Given the description of an element on the screen output the (x, y) to click on. 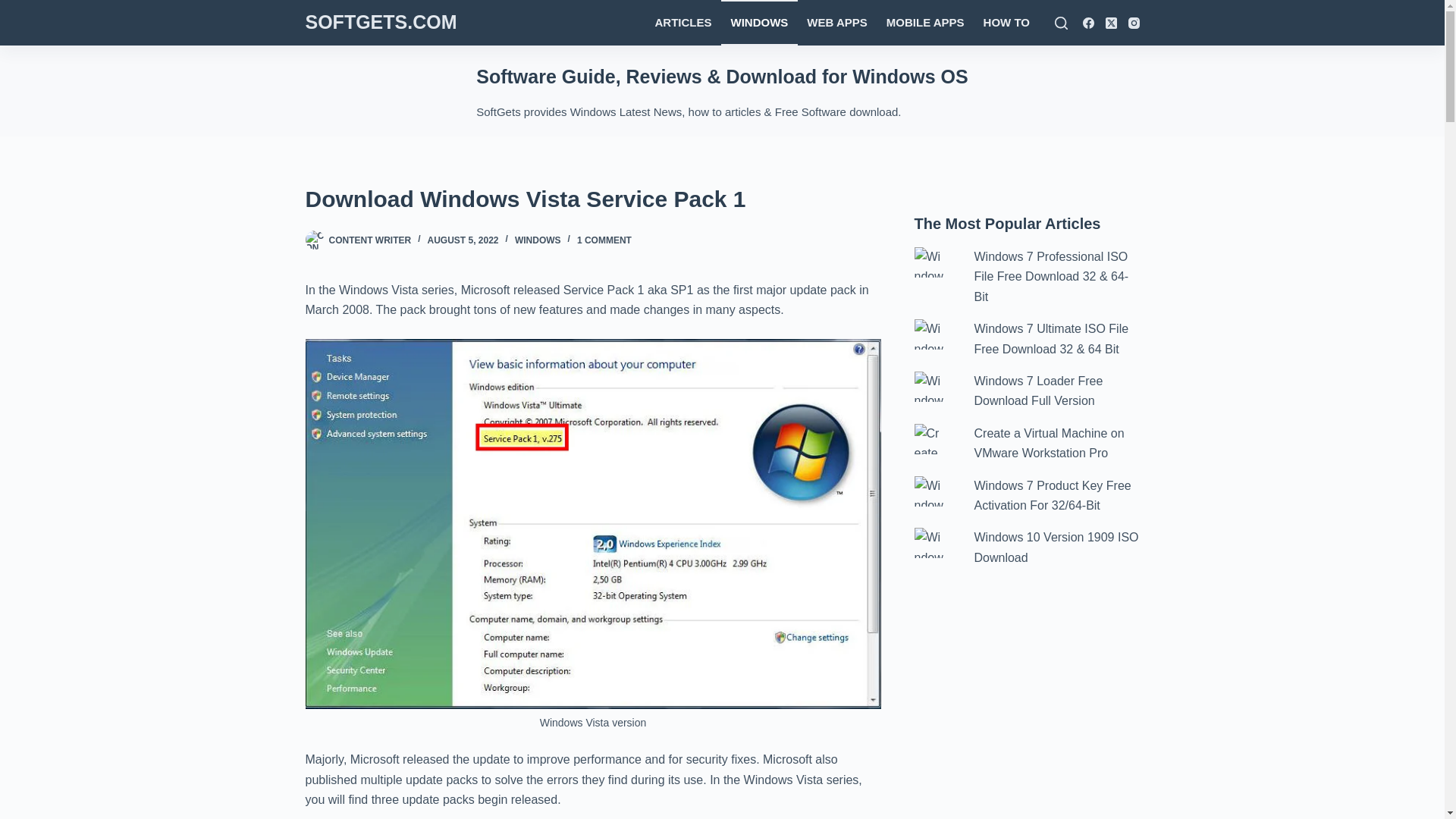
Skip to content (15, 7)
SOFTGETS.COM (380, 21)
HOW TO (1006, 22)
Posts by content writer (370, 240)
MOBILE APPS (925, 22)
WEB APPS (836, 22)
1 COMMENT (603, 240)
ARTICLES (682, 22)
WINDOWS (758, 22)
WINDOWS (537, 240)
